Given the description of an element on the screen output the (x, y) to click on. 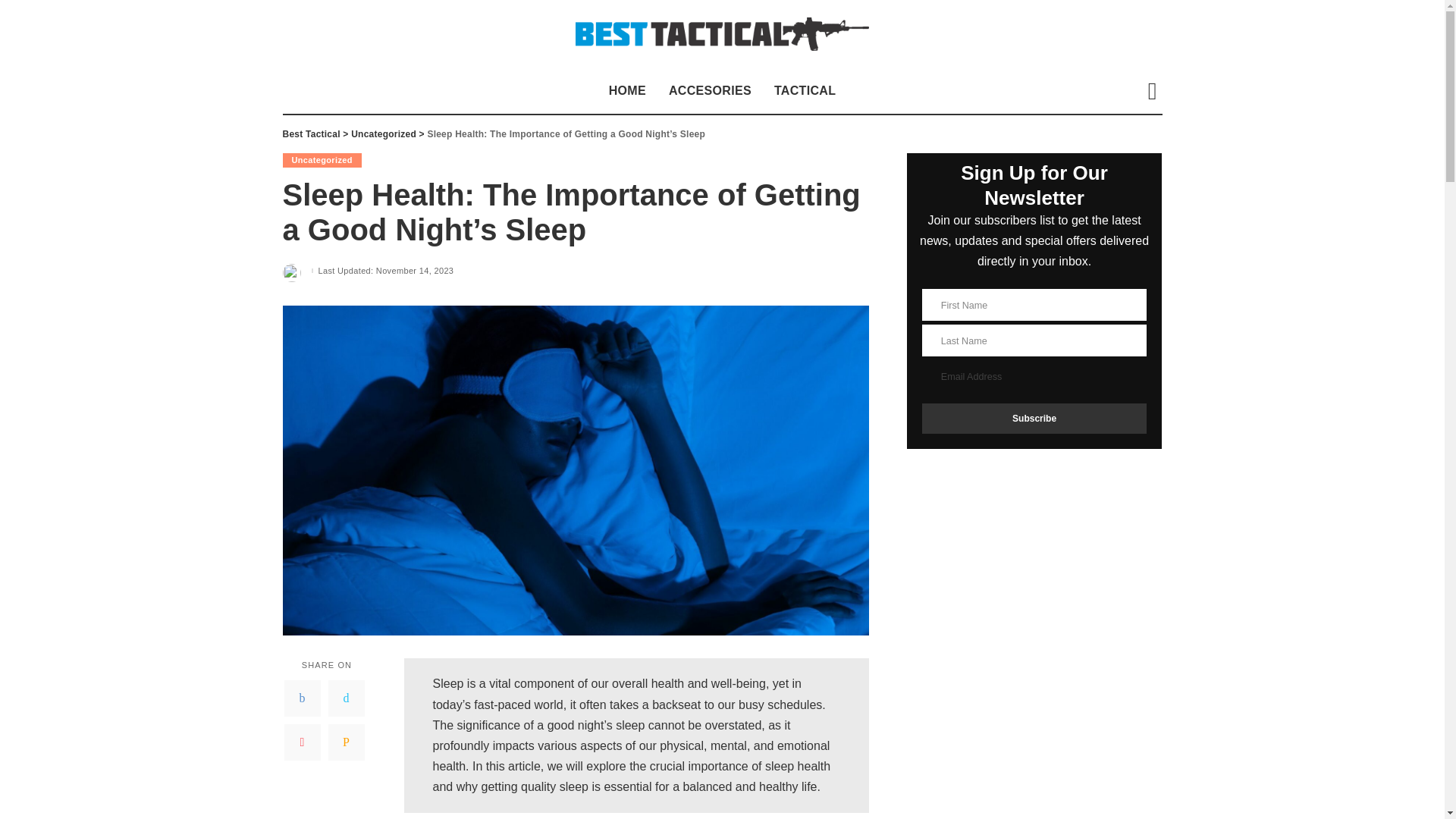
Uncategorized (321, 160)
Best Tactical (722, 34)
Go to the Uncategorized Category archives. (383, 133)
Uncategorized (383, 133)
Facebook (301, 698)
HOME (627, 90)
Best Tactical (310, 133)
Email (345, 741)
ACCESORIES (710, 90)
Pinterest (301, 741)
